Given the description of an element on the screen output the (x, y) to click on. 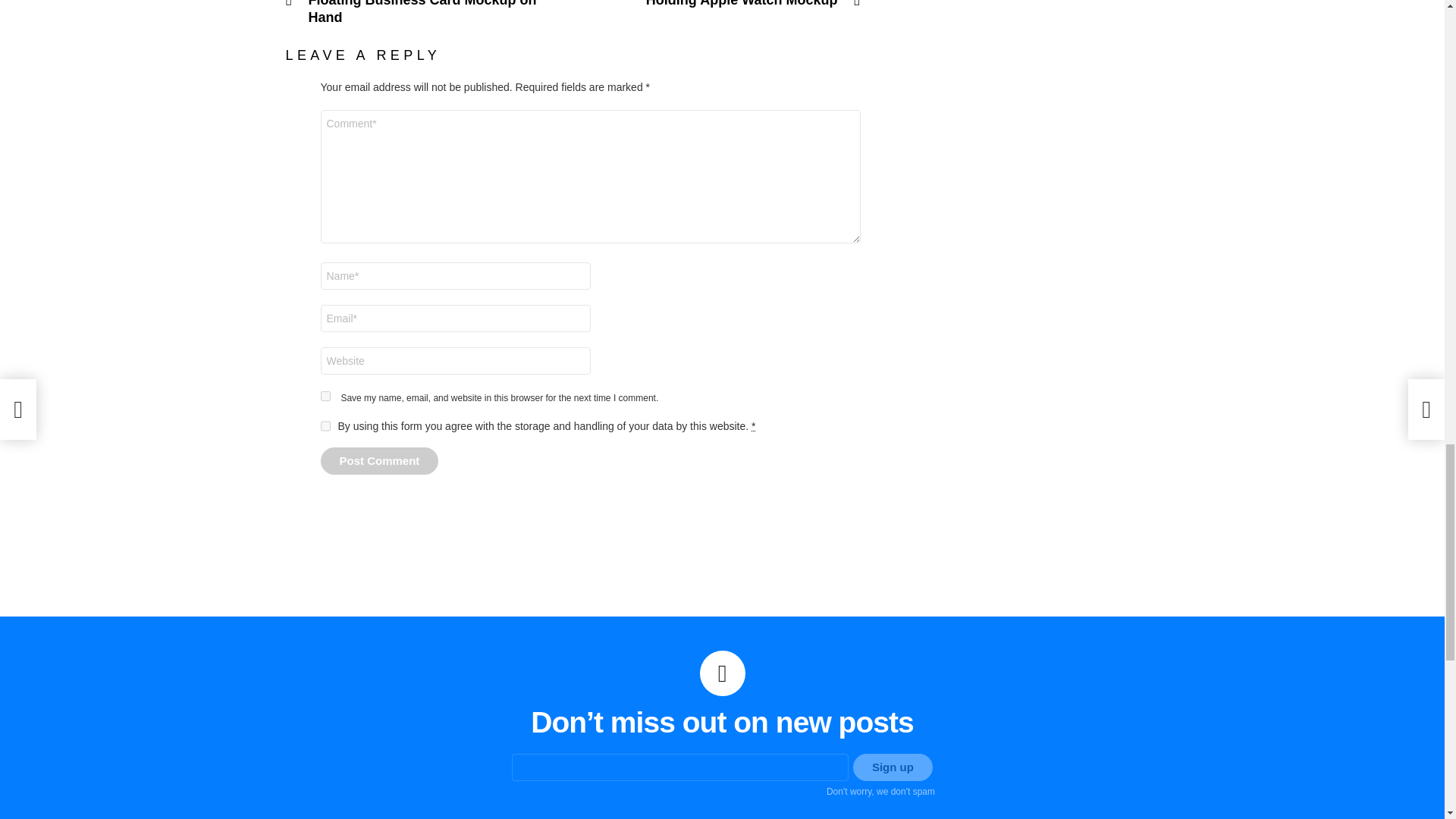
1 (325, 426)
Post Comment (379, 461)
Sign up (893, 767)
yes (325, 396)
